Given the description of an element on the screen output the (x, y) to click on. 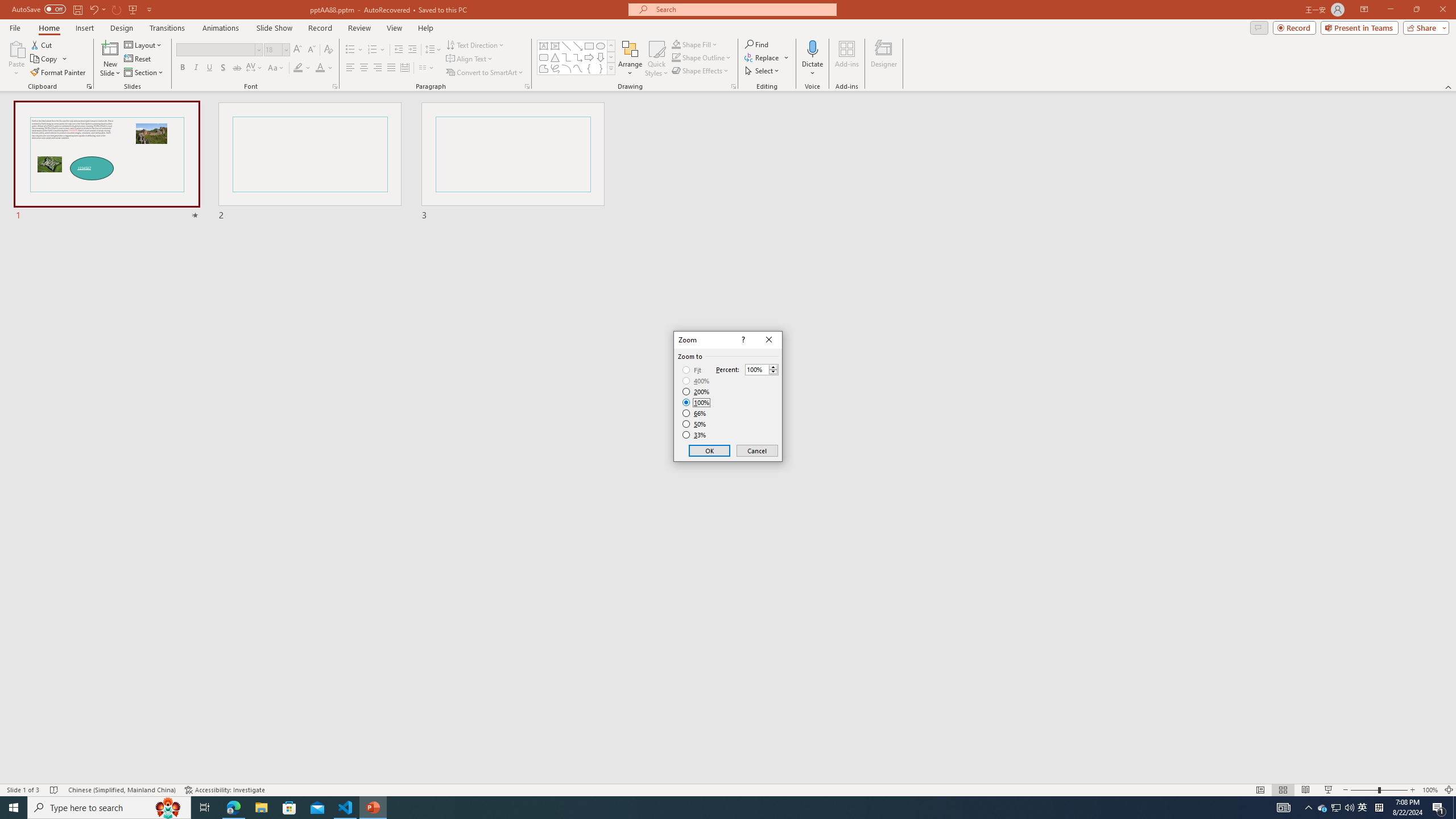
Shape Fill Aqua, Accent 2 (675, 44)
Percent (761, 369)
